Given the description of an element on the screen output the (x, y) to click on. 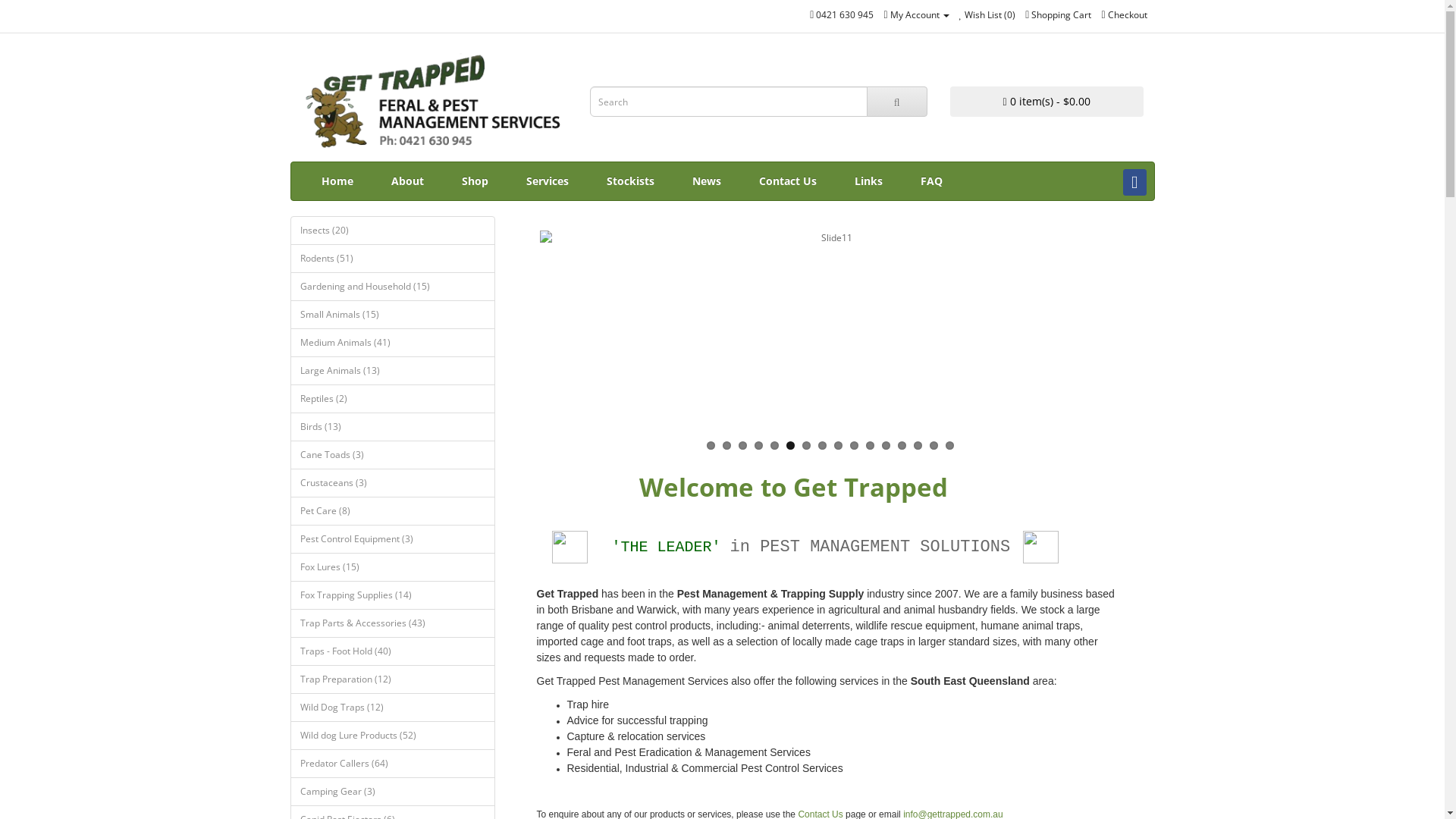
Birds (13) Element type: text (391, 426)
Services Element type: text (546, 181)
Fox Trapping Supplies (14) Element type: text (391, 594)
About Element type: text (406, 181)
Shopping Cart Element type: text (1058, 14)
News Element type: text (706, 181)
Get Trapped Element type: hover (434, 100)
Contact Us Element type: text (787, 181)
Pest Control Equipment (3) Element type: text (391, 538)
Shop Element type: text (474, 181)
Wild Dog Traps (12) Element type: text (391, 707)
Checkout Element type: text (1123, 14)
Trap Preparation (12) Element type: text (391, 679)
Gardening and Household (15) Element type: text (391, 286)
Home Element type: text (336, 181)
Traps - Foot Hold (40) Element type: text (391, 651)
Pet Care (8) Element type: text (391, 510)
Cane Toads (3) Element type: text (391, 454)
Crustaceans (3) Element type: text (391, 482)
Fox Lures (15) Element type: text (391, 566)
Reptiles (2) Element type: text (391, 398)
Rodents (51) Element type: text (391, 258)
Links Element type: text (868, 181)
Predator Callers (64) Element type: text (391, 763)
Large Animals (13) Element type: text (391, 370)
Small Animals (15) Element type: text (391, 314)
0 item(s) - $0.00 Element type: text (1045, 101)
Camping Gear (3) Element type: text (391, 791)
Trap Parts & Accessories (43) Element type: text (391, 622)
Wish List (0) Element type: text (987, 14)
My Account Element type: text (915, 14)
Insects (20) Element type: text (391, 230)
Stockists Element type: text (629, 181)
FAQ Element type: text (930, 181)
Wild dog Lure Products (52) Element type: text (391, 735)
Medium Animals (41) Element type: text (391, 342)
